Given the description of an element on the screen output the (x, y) to click on. 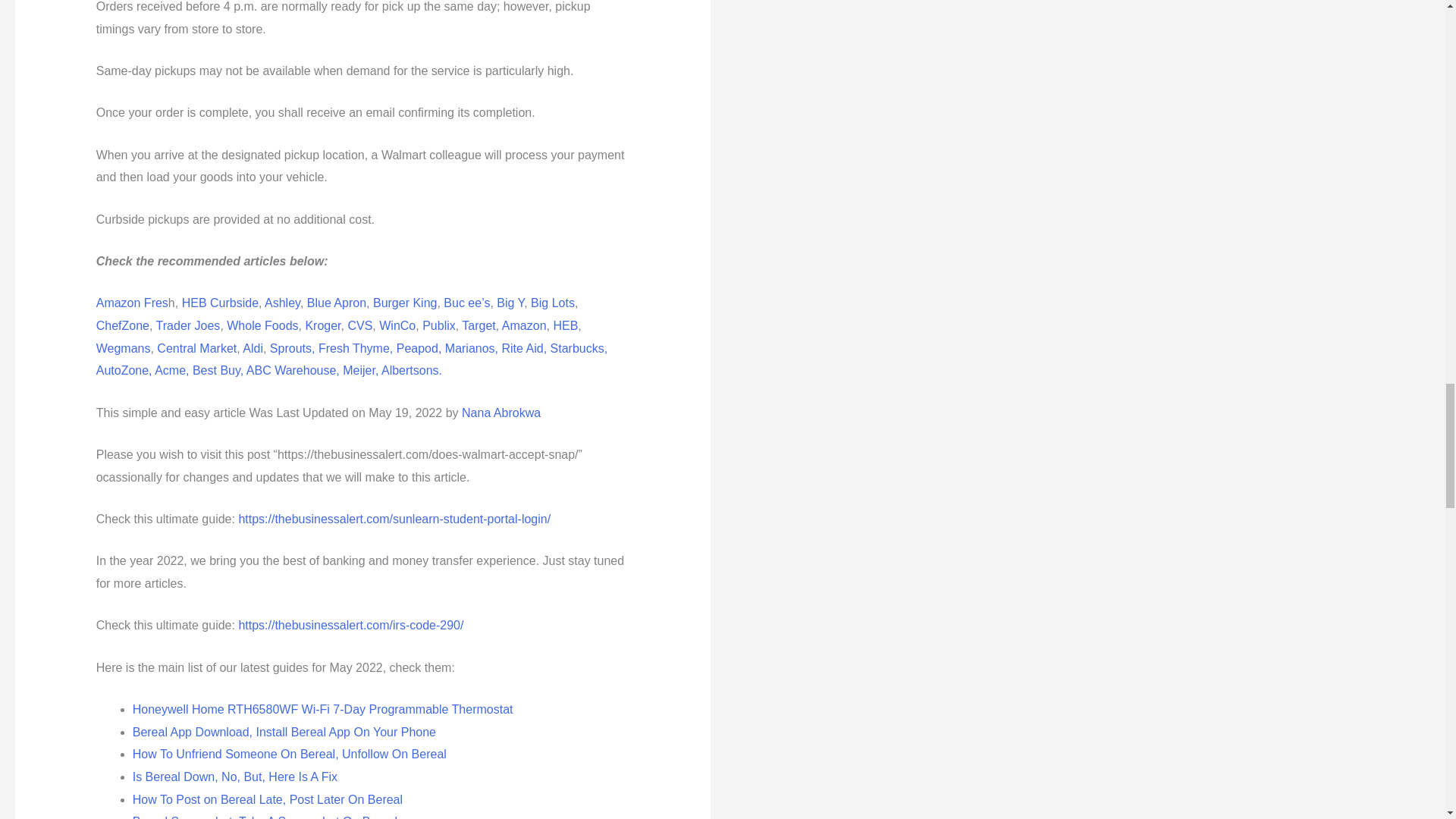
Publix (438, 325)
Big Lots (553, 302)
Amazon (524, 325)
Trader Joes (188, 325)
CVS (359, 325)
Whole Foods (262, 325)
WinCo (396, 325)
Kroger (322, 325)
Blue Apron (336, 302)
Amazon Fres (132, 302)
